Given the description of an element on the screen output the (x, y) to click on. 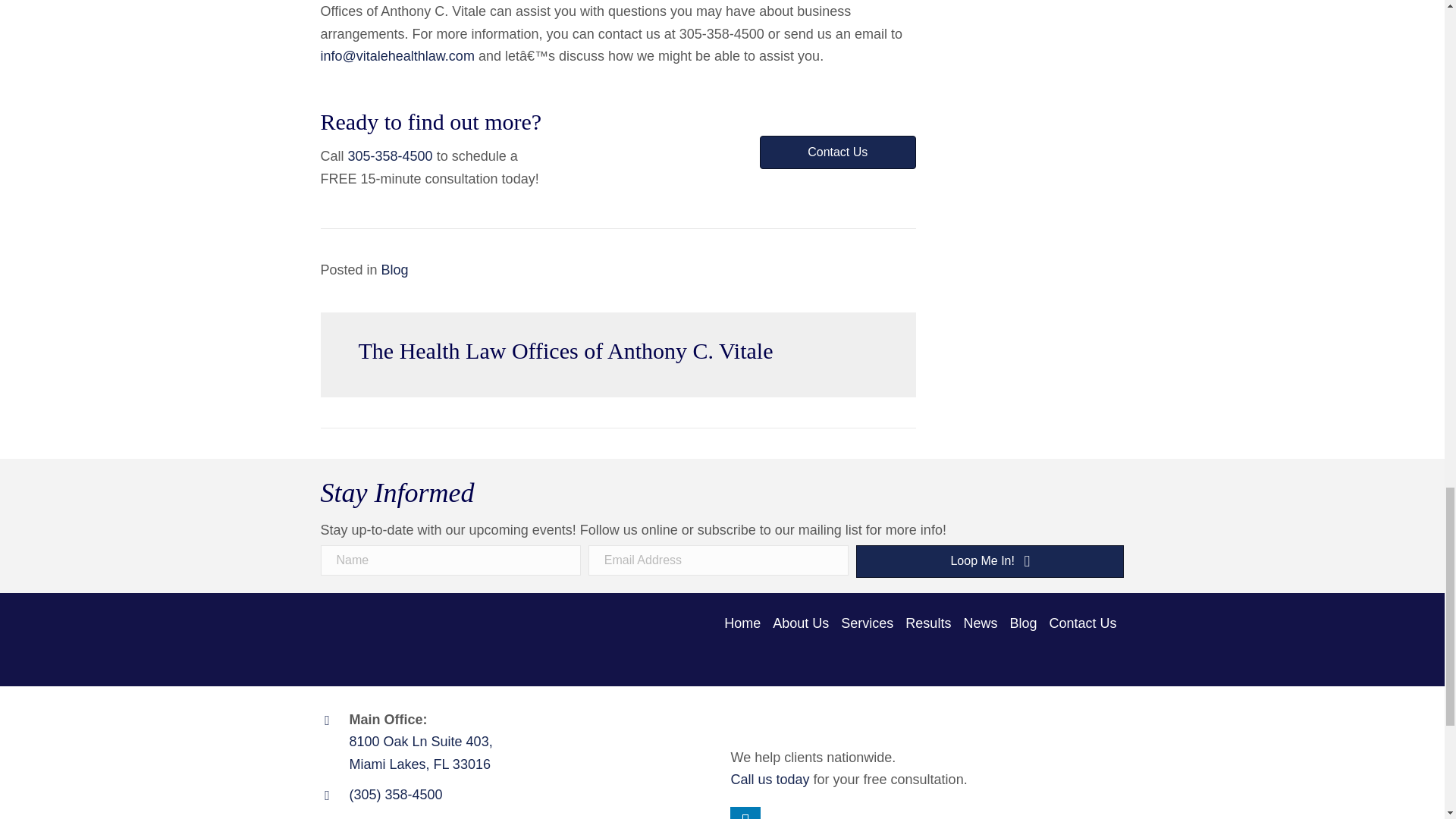
305-358-4500 (389, 155)
Contact Us (837, 151)
Blog (395, 269)
LinkedIn (745, 812)
